Given the description of an element on the screen output the (x, y) to click on. 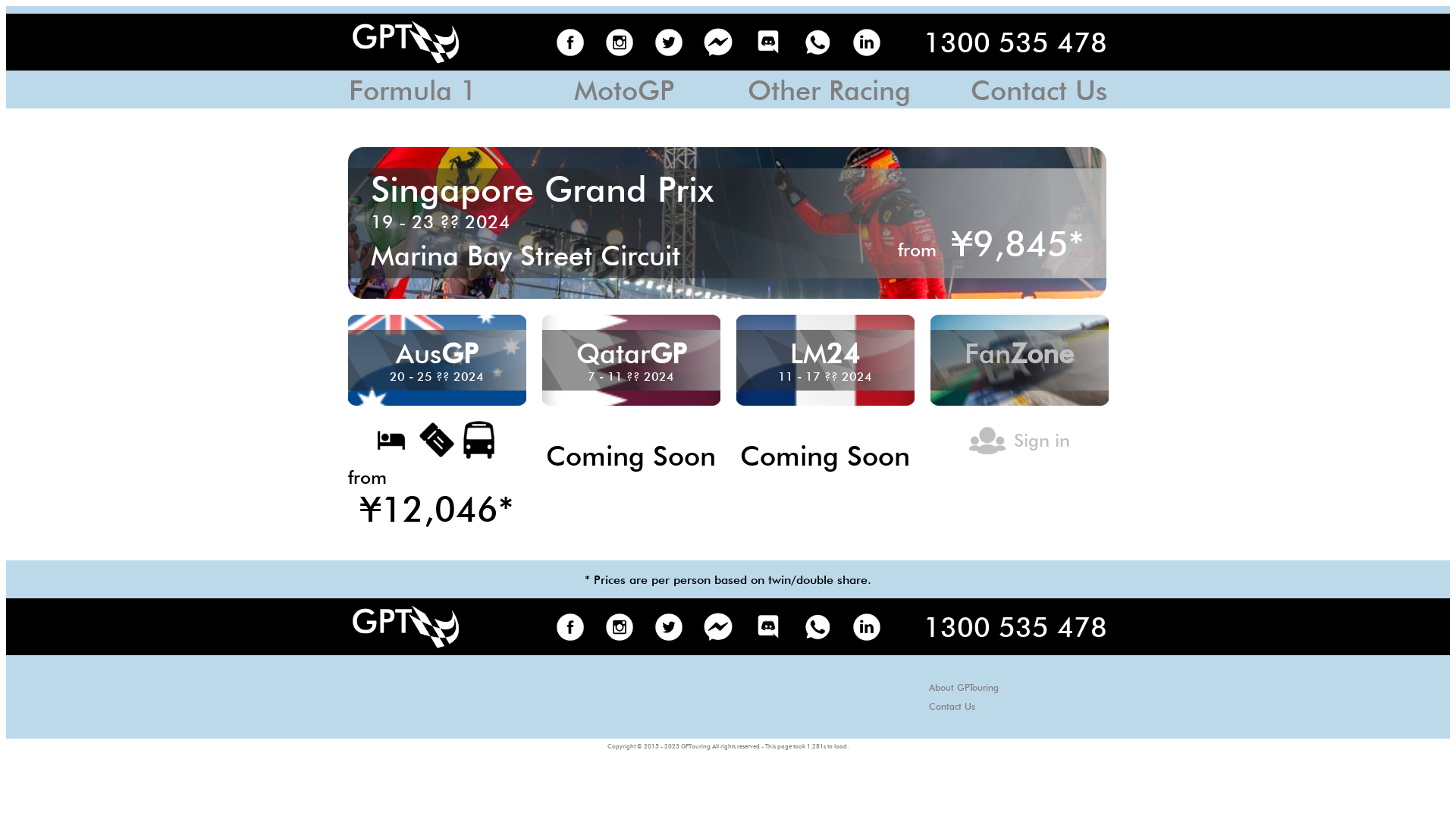
Bus Element type: hover (478, 439)
Formula 1 Element type: text (412, 94)
QatarGP Element type: text (631, 358)
MotoGP Element type: text (624, 94)
About GPTouring Element type: text (963, 686)
Hotel Element type: hover (391, 439)
Singapore Grand Prix Element type: text (541, 196)
LM24 Element type: text (824, 358)
Contact Us Element type: text (951, 705)
Contact Us Element type: text (1038, 94)
Other Racing Element type: text (828, 94)
Grandstand Ticket Element type: hover (436, 439)
Marina Bay Street Circuit Element type: text (525, 261)
AusGP Element type: text (436, 358)
